Given the description of an element on the screen output the (x, y) to click on. 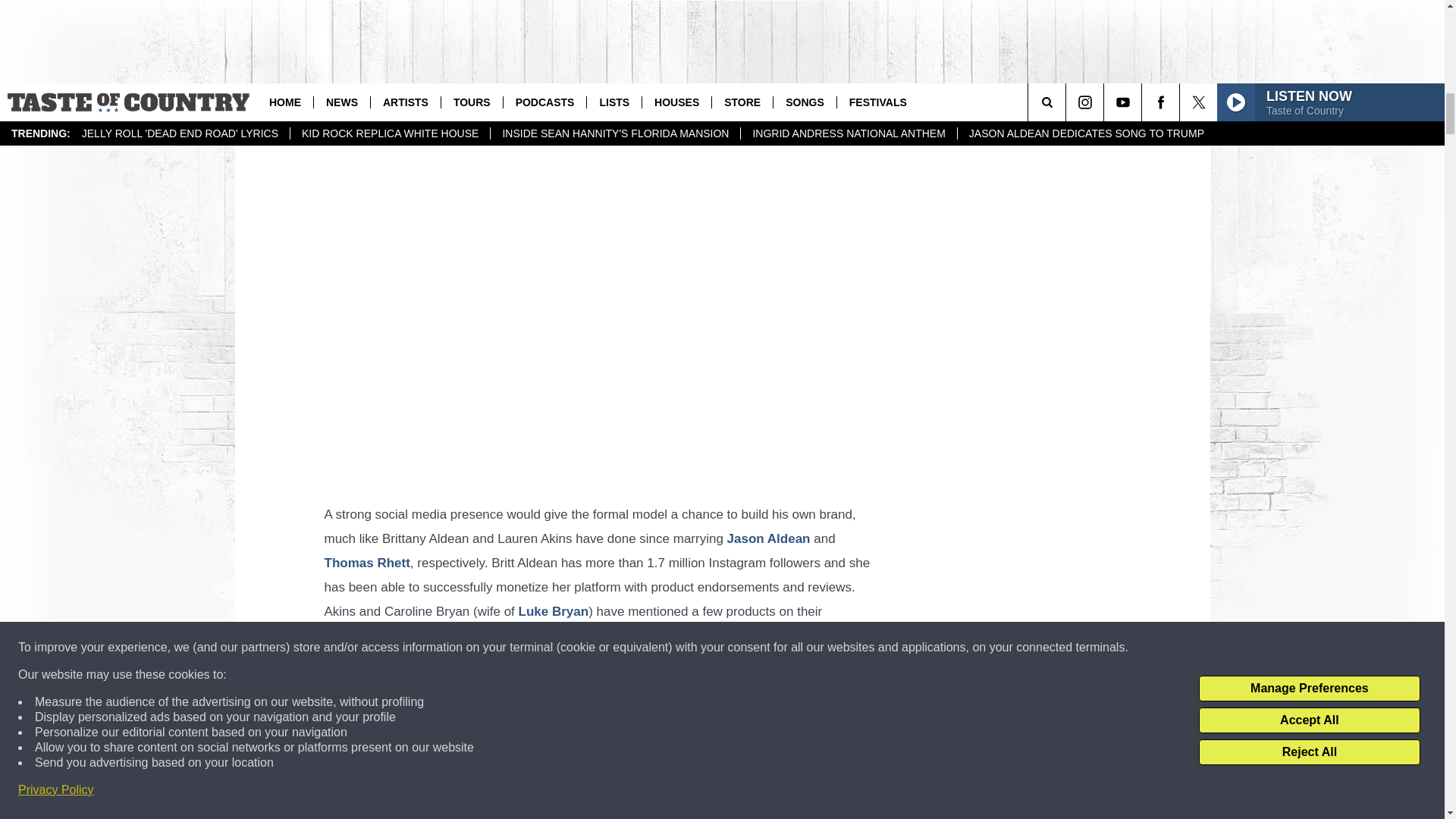
Pollstar (536, 129)
of him on horseback (391, 20)
